Given the description of an element on the screen output the (x, y) to click on. 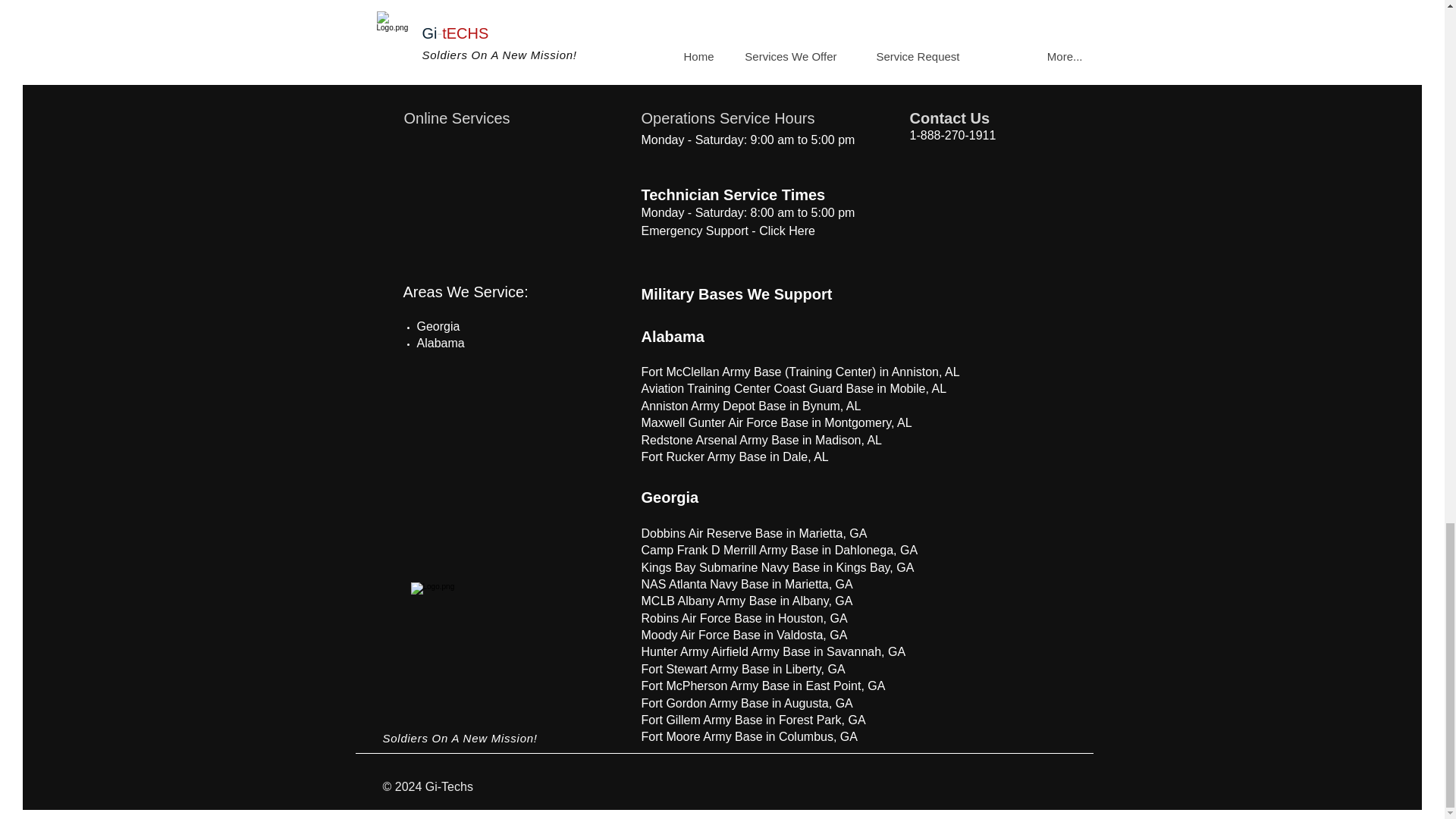
Post not marked as liked (1050, 45)
0 (435, 45)
Soldiers On A New Mission! (459, 738)
0 (926, 45)
Post not marked as liked (804, 45)
Military Spouses Getting It Done! (967, 4)
0 (685, 45)
Post not marked as liked (558, 45)
